Given the description of an element on the screen output the (x, y) to click on. 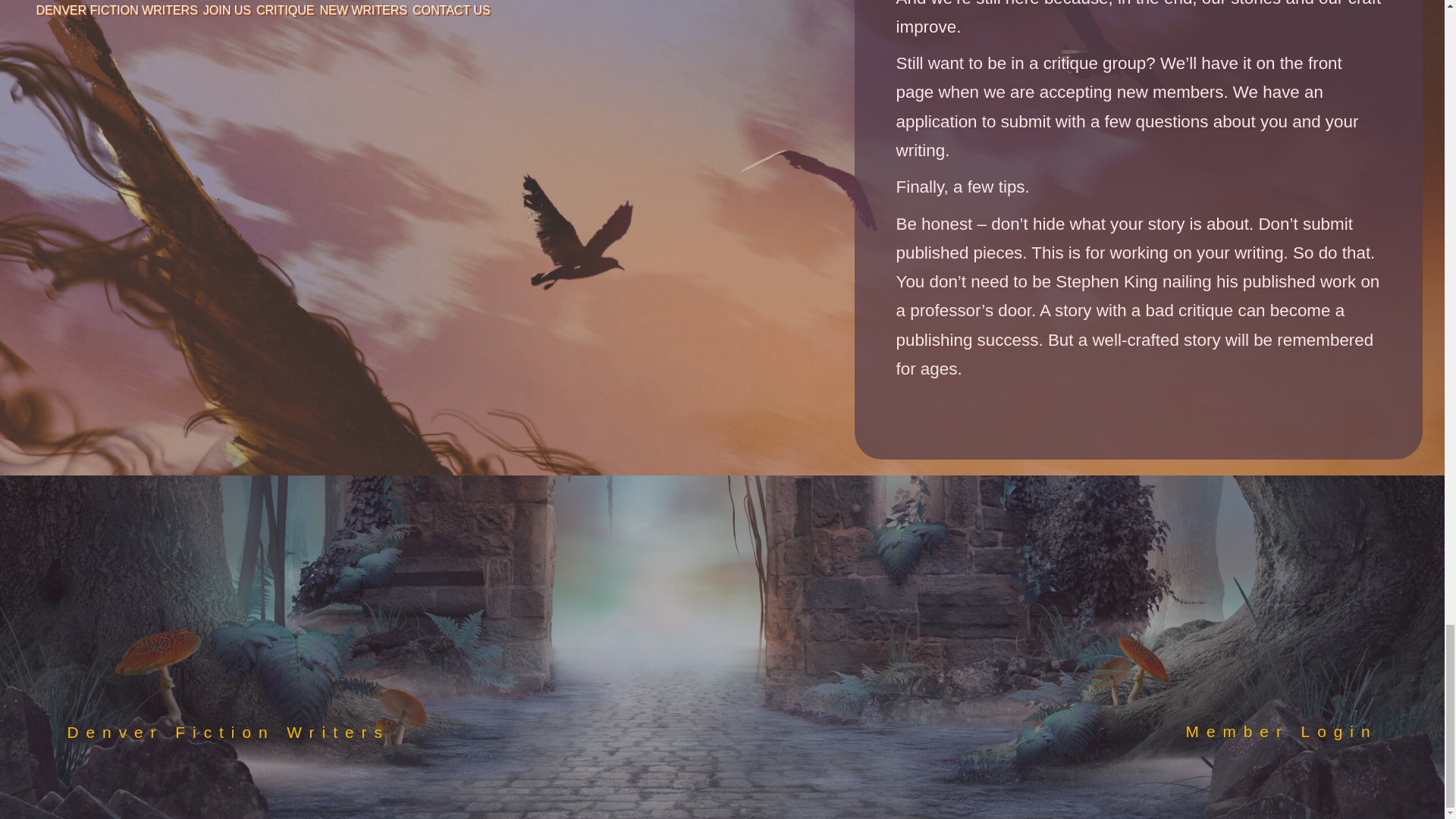
Member Login (1281, 731)
Denver Fiction Writers (227, 732)
